Given the description of an element on the screen output the (x, y) to click on. 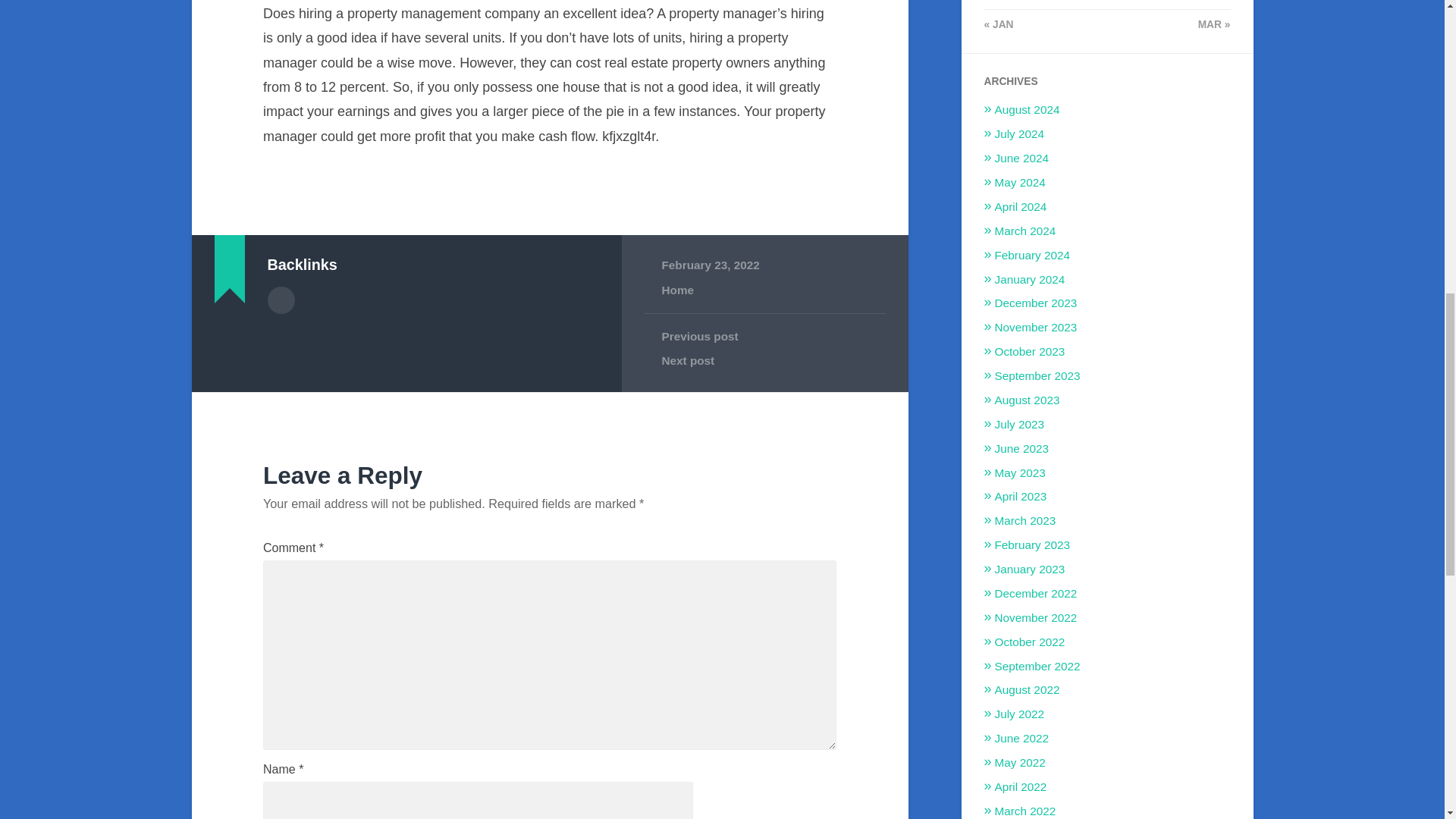
Home (677, 289)
Next post (765, 360)
Author archive (280, 299)
Previous post (765, 336)
